Given the description of an element on the screen output the (x, y) to click on. 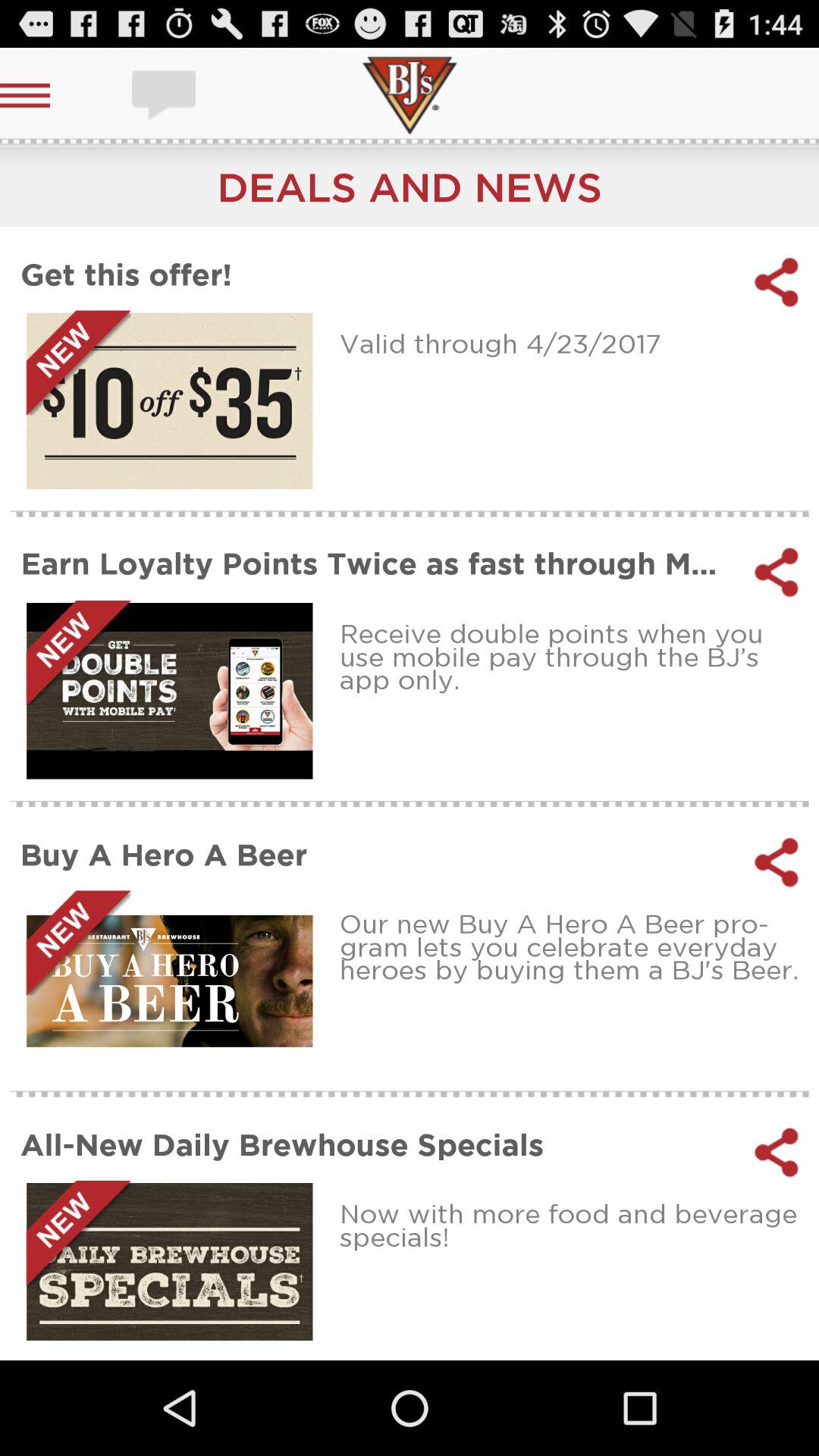
shareing icone (776, 572)
